Given the description of an element on the screen output the (x, y) to click on. 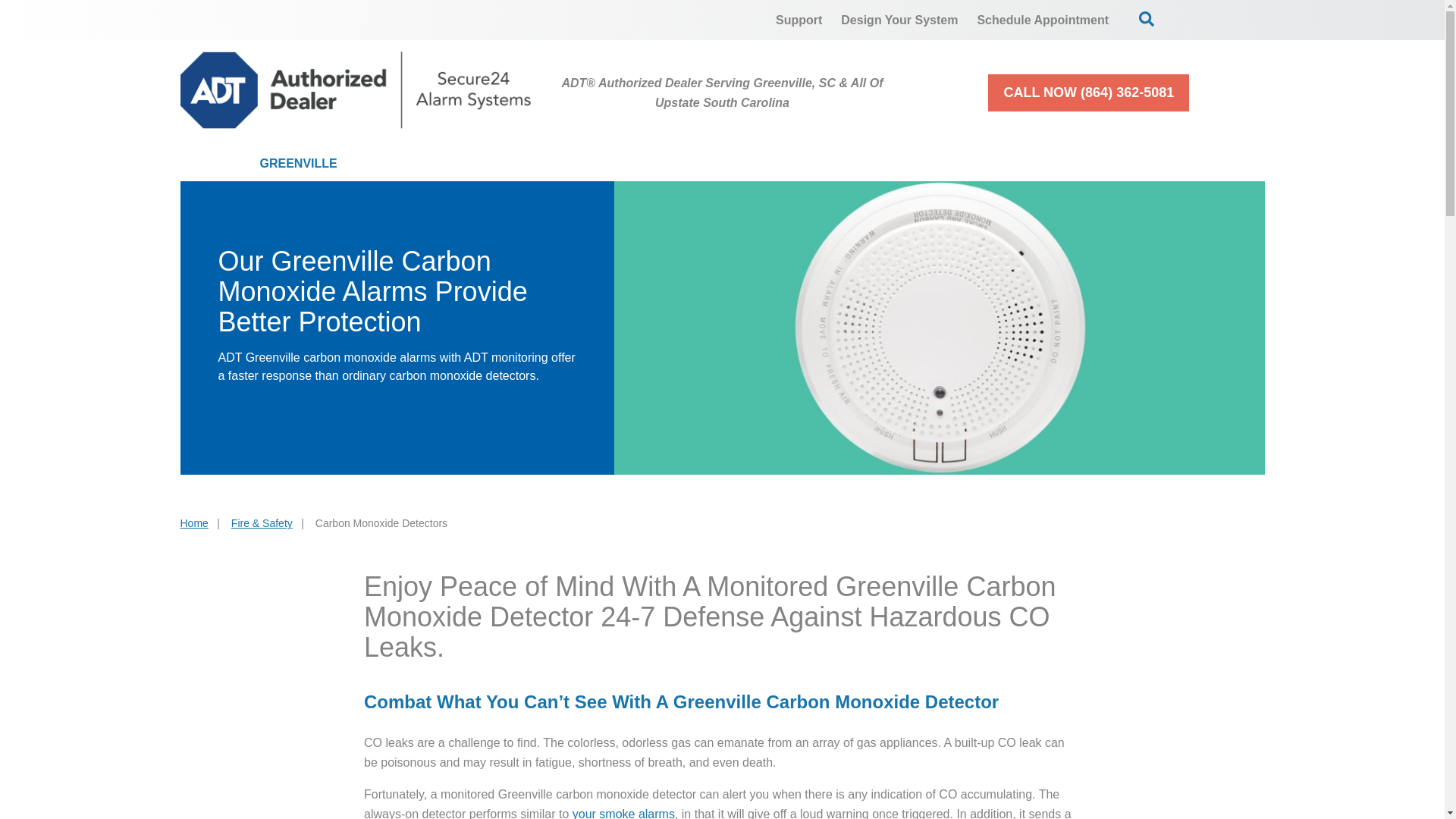
Schedule Appointment (1042, 20)
Secure24 Alarm Systems Home (355, 89)
Open Search (1146, 18)
Home Security (452, 163)
Support (798, 20)
Design Your System (898, 20)
Cameras (599, 163)
Home Automation (756, 163)
